Given the description of an element on the screen output the (x, y) to click on. 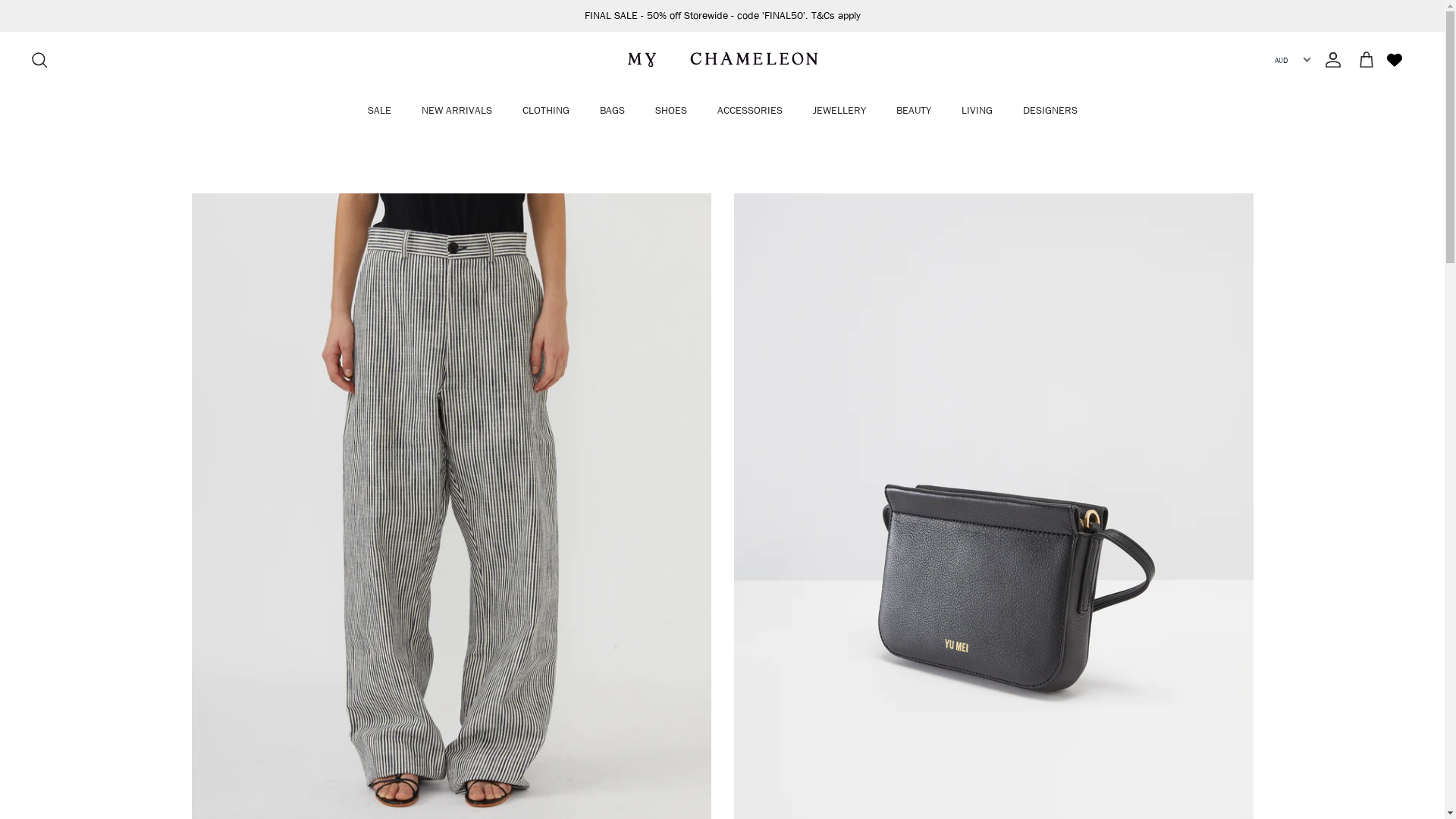
Account Element type: text (1329, 59)
LIVING Element type: text (976, 109)
DESIGNERS Element type: text (1049, 109)
BEAUTY Element type: text (913, 109)
SALE Element type: text (378, 109)
ACCESSORIES Element type: text (749, 109)
My Chameleon Element type: hover (722, 59)
CLOTHING Element type: text (545, 109)
NEW ARRIVALS Element type: text (456, 109)
JEWELLERY Element type: text (839, 109)
SHOES Element type: text (670, 109)
Bag Element type: text (1366, 59)
Search Element type: text (39, 59)
BAGS Element type: text (611, 109)
